Given the description of an element on the screen output the (x, y) to click on. 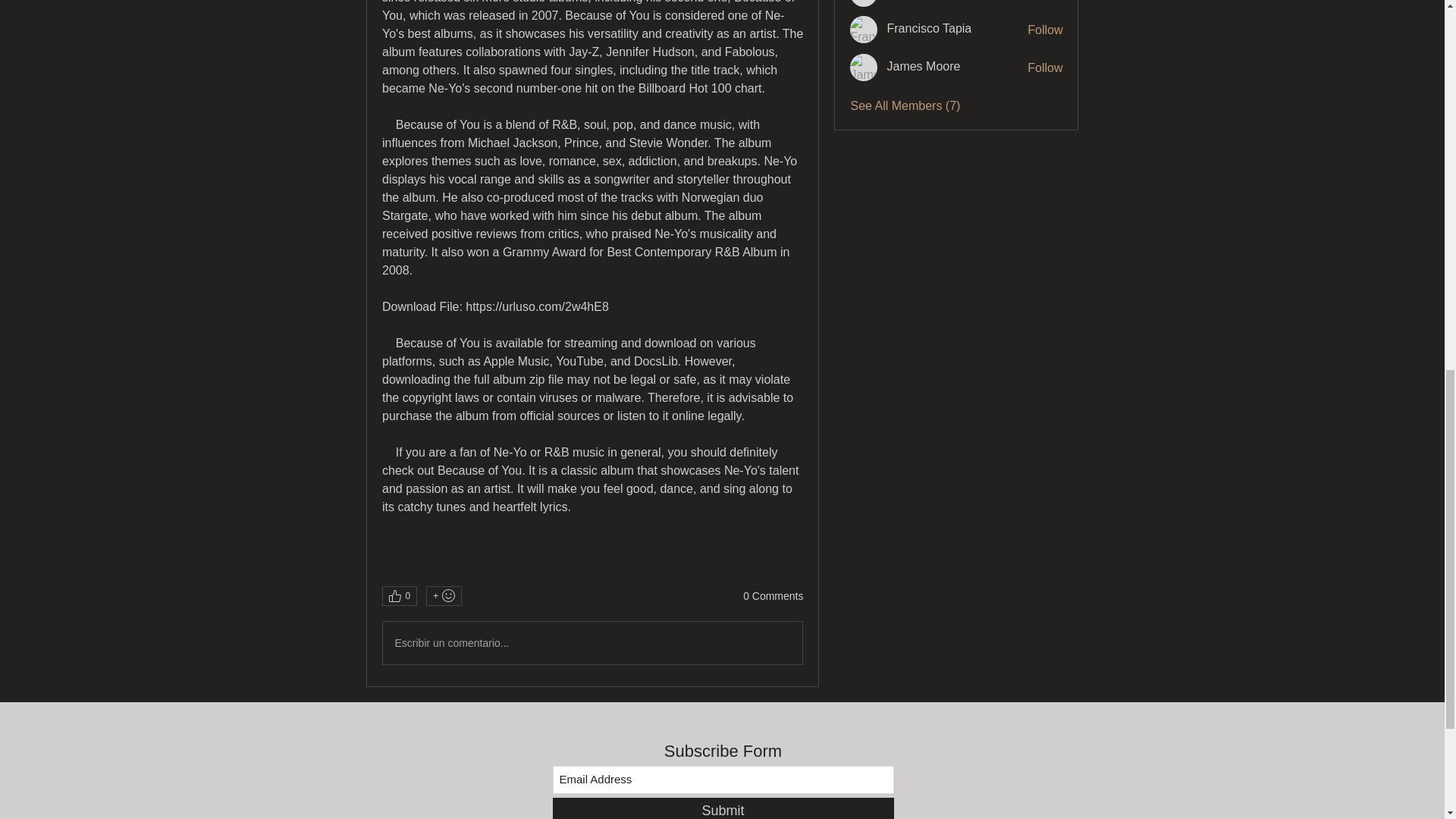
Francisco Tapia (863, 29)
Submit (722, 808)
0 Comments (772, 596)
Follow (1044, 0)
Escribir un comentario... (591, 642)
Follow (1044, 30)
Follow (1044, 67)
James Moore (863, 67)
info.tvactivatecode (863, 3)
